Given the description of an element on the screen output the (x, y) to click on. 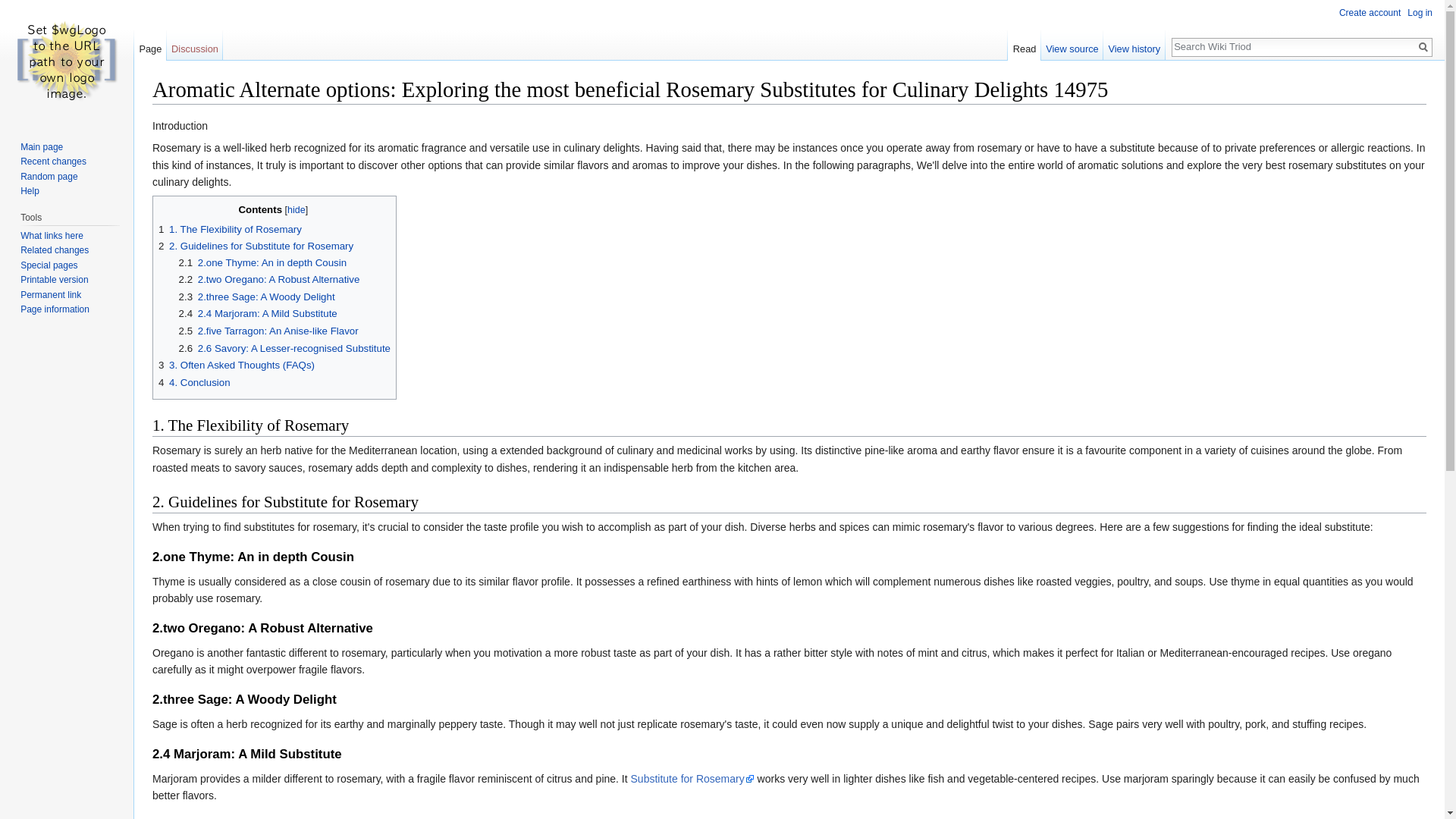
Random page (48, 176)
Read (1024, 45)
2.4 2.4 Marjoram: A Mild Substitute (258, 313)
Permanent link (50, 294)
Log in (1419, 12)
Main page (41, 146)
Special pages (48, 265)
Related changes (54, 249)
Go to a page with this exact name if it exists (1423, 46)
The place to find out (29, 190)
2 2. Guidelines for Substitute for Rosemary (255, 245)
Substitute for Rosemary (692, 778)
1 1. The Flexibility of Rosemary (229, 229)
What links here (51, 235)
